Given the description of an element on the screen output the (x, y) to click on. 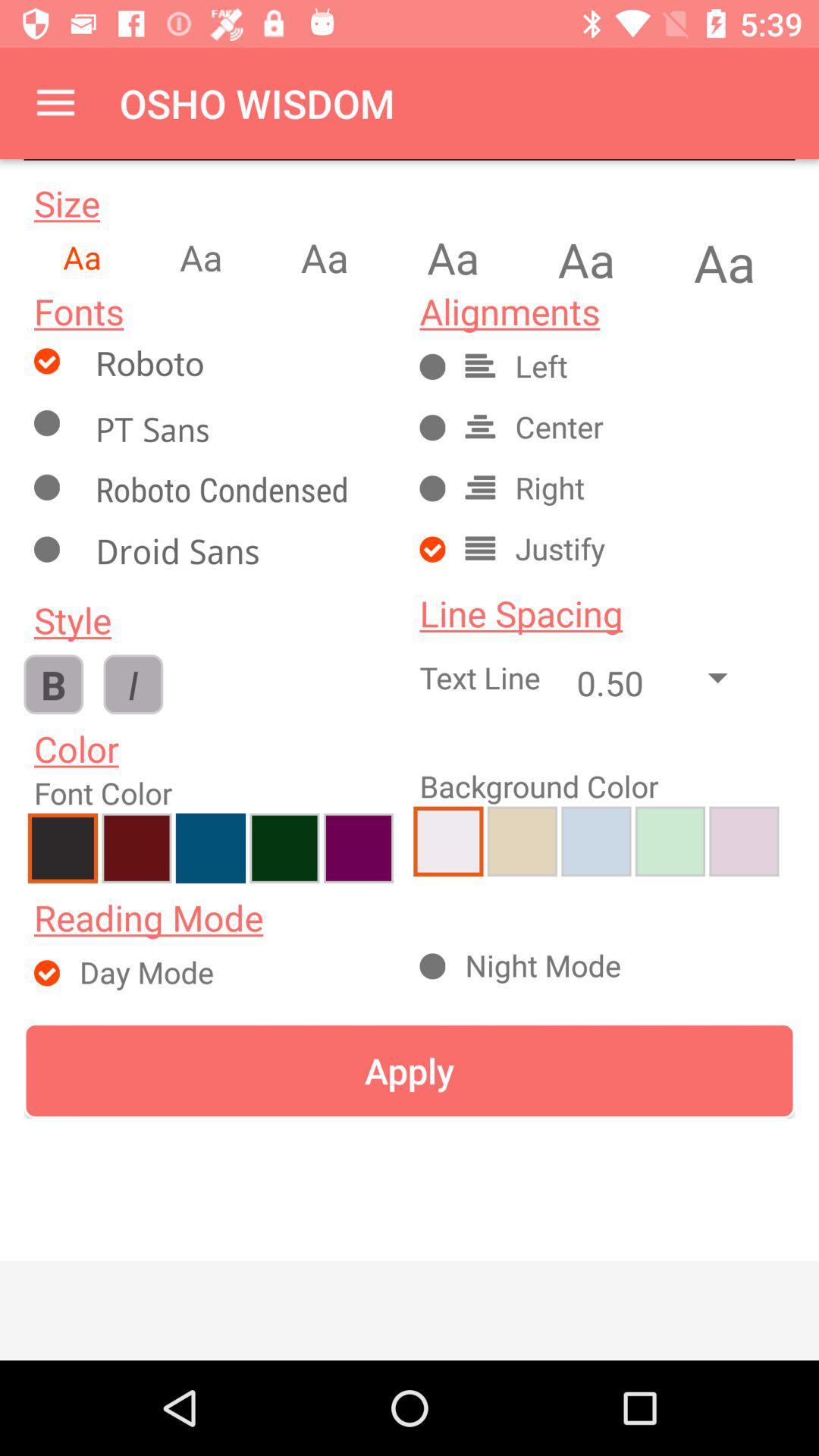
color option (358, 848)
